Given the description of an element on the screen output the (x, y) to click on. 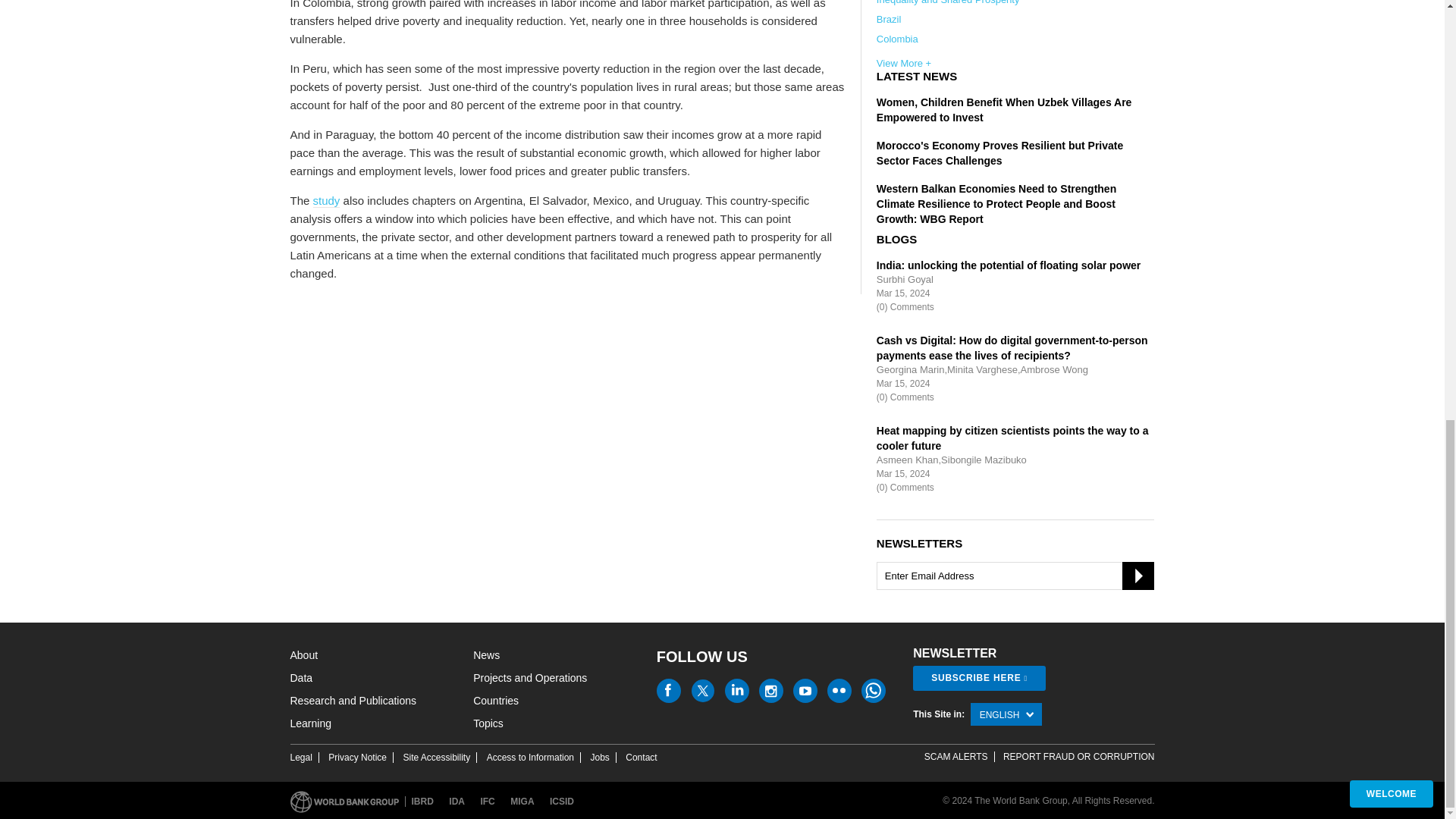
Enter Email Address (1015, 575)
Enter Email Address (1015, 575)
